Given the description of an element on the screen output the (x, y) to click on. 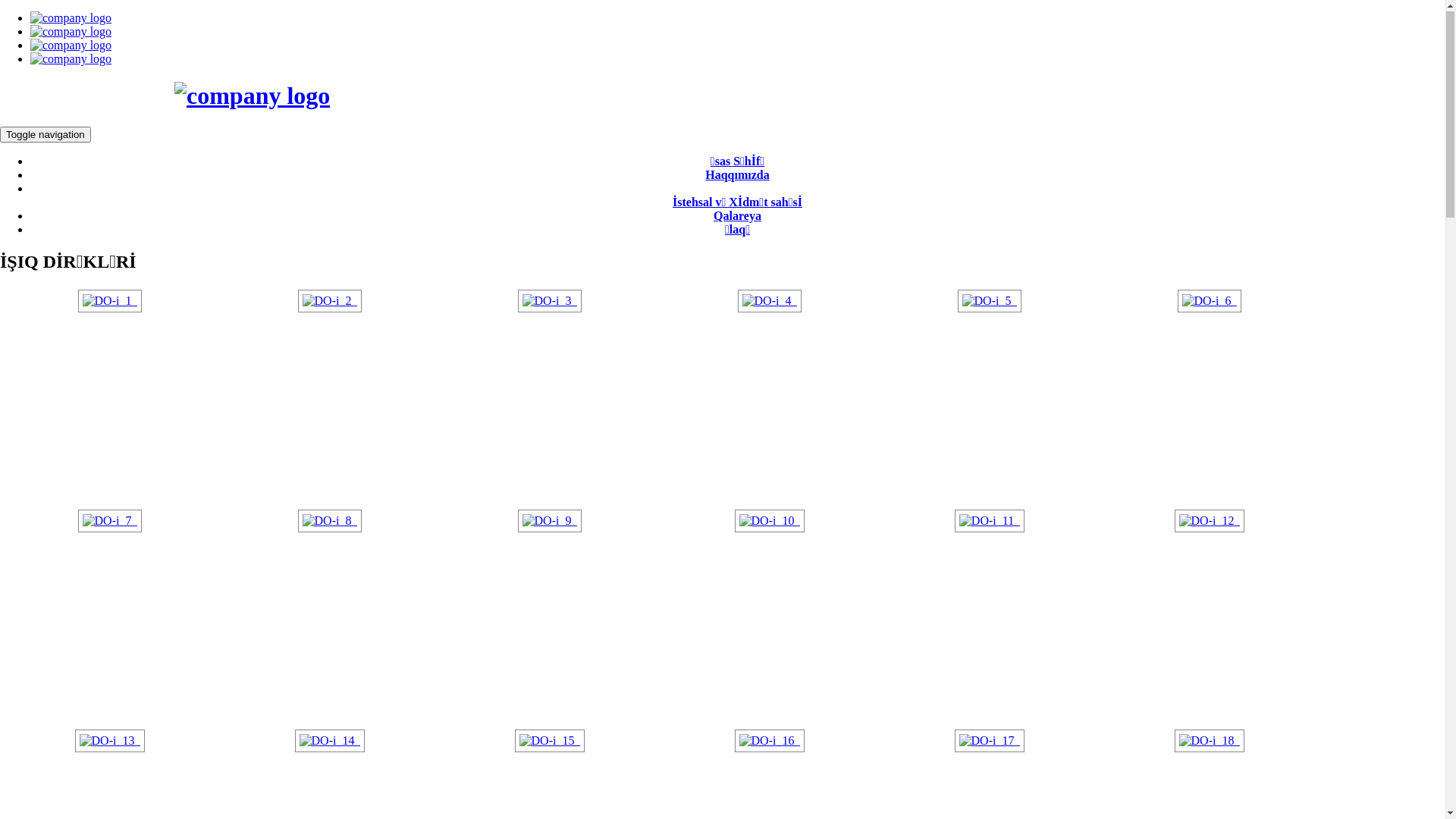
DO-i_12_ Element type: hover (1209, 520)
DO-i_8_ Element type: hover (329, 520)
Qalareya Element type: text (737, 216)
DO-i_9_ Element type: hover (549, 520)
DO-i_14_ Element type: hover (329, 740)
DO-i_5_ Element type: hover (989, 300)
Toggle navigation Element type: text (45, 135)
DO-i_10_ Element type: hover (769, 520)
DO-i_7_ Element type: hover (109, 520)
DO-i_13_ Element type: hover (109, 740)
DO-i_17_ Element type: hover (989, 740)
DO-i_6_ Element type: hover (1209, 300)
DO-i_4_ Element type: hover (769, 300)
DO-i_2_ Element type: hover (329, 300)
DO-i_16_ Element type: hover (769, 740)
DO-i_18_ Element type: hover (1209, 740)
DO-i_11_ Element type: hover (989, 520)
DO-i_15_ Element type: hover (549, 740)
DO-i_3_ Element type: hover (549, 300)
DO-i_1_ Element type: hover (109, 300)
